Given the description of an element on the screen output the (x, y) to click on. 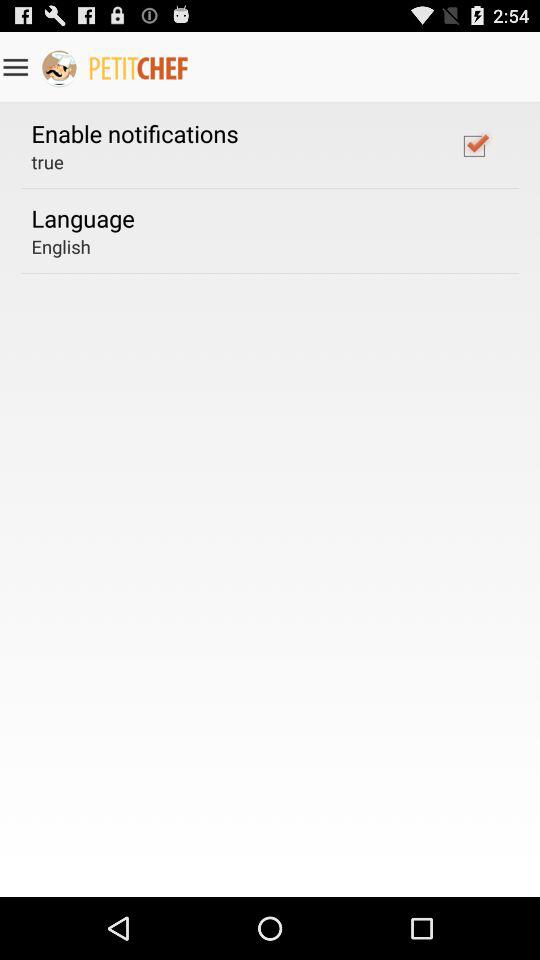
turn on the app above the language app (47, 161)
